Given the description of an element on the screen output the (x, y) to click on. 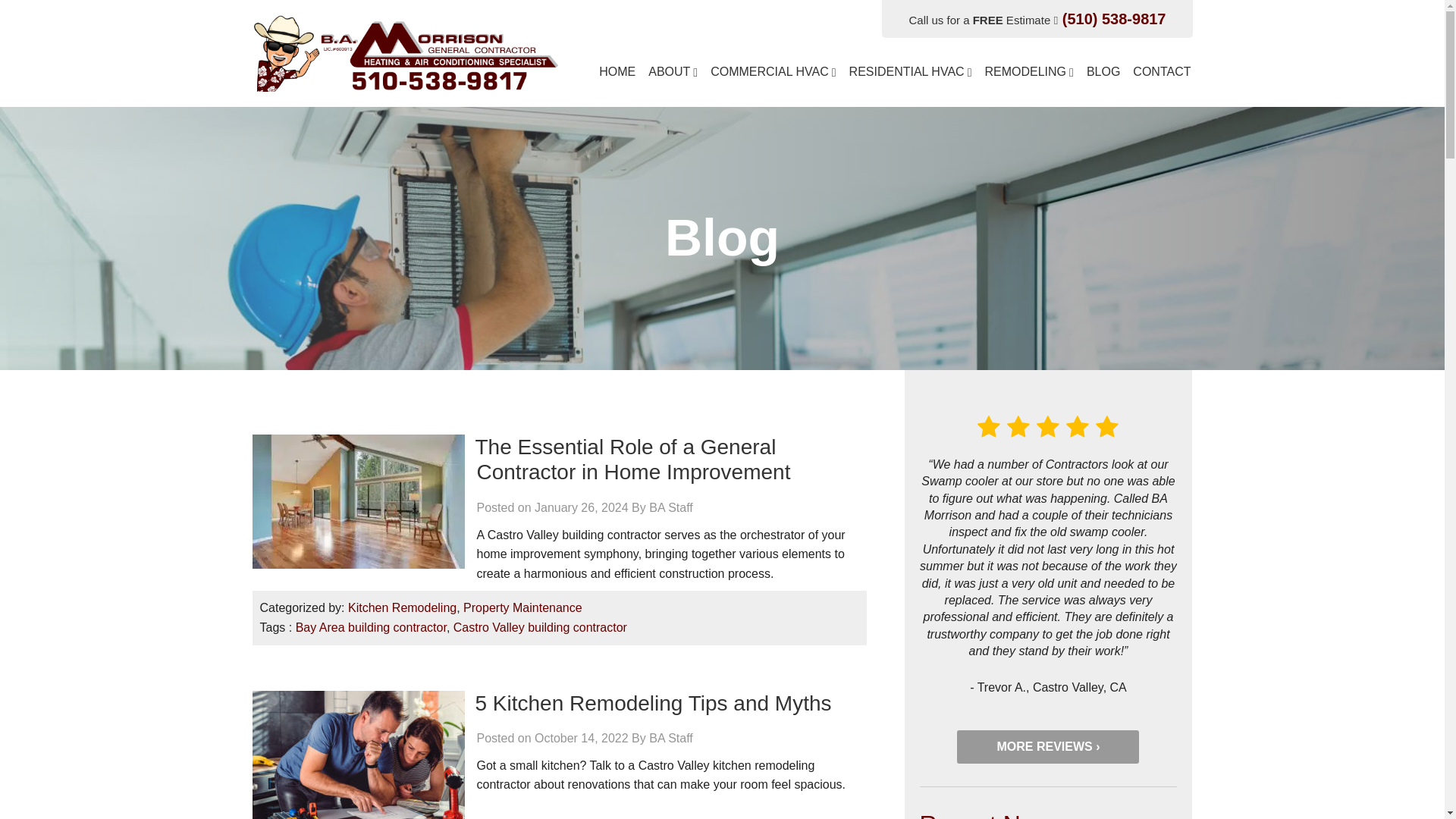
RESIDENTIAL HVAC (913, 80)
REMODELING (1030, 80)
Property Maintenance (522, 607)
BA Staff (671, 738)
BA Morrison (404, 51)
5 Kitchen Remodeling Tips and Myths (652, 702)
Kitchen Remodeling (402, 607)
CONTACT (1160, 80)
HOME (620, 80)
BA Staff (671, 507)
COMMERCIAL HVAC (775, 80)
Castro Valley building contractor (539, 626)
Bay Area building contractor (370, 626)
ABOUT (675, 80)
